Given the description of an element on the screen output the (x, y) to click on. 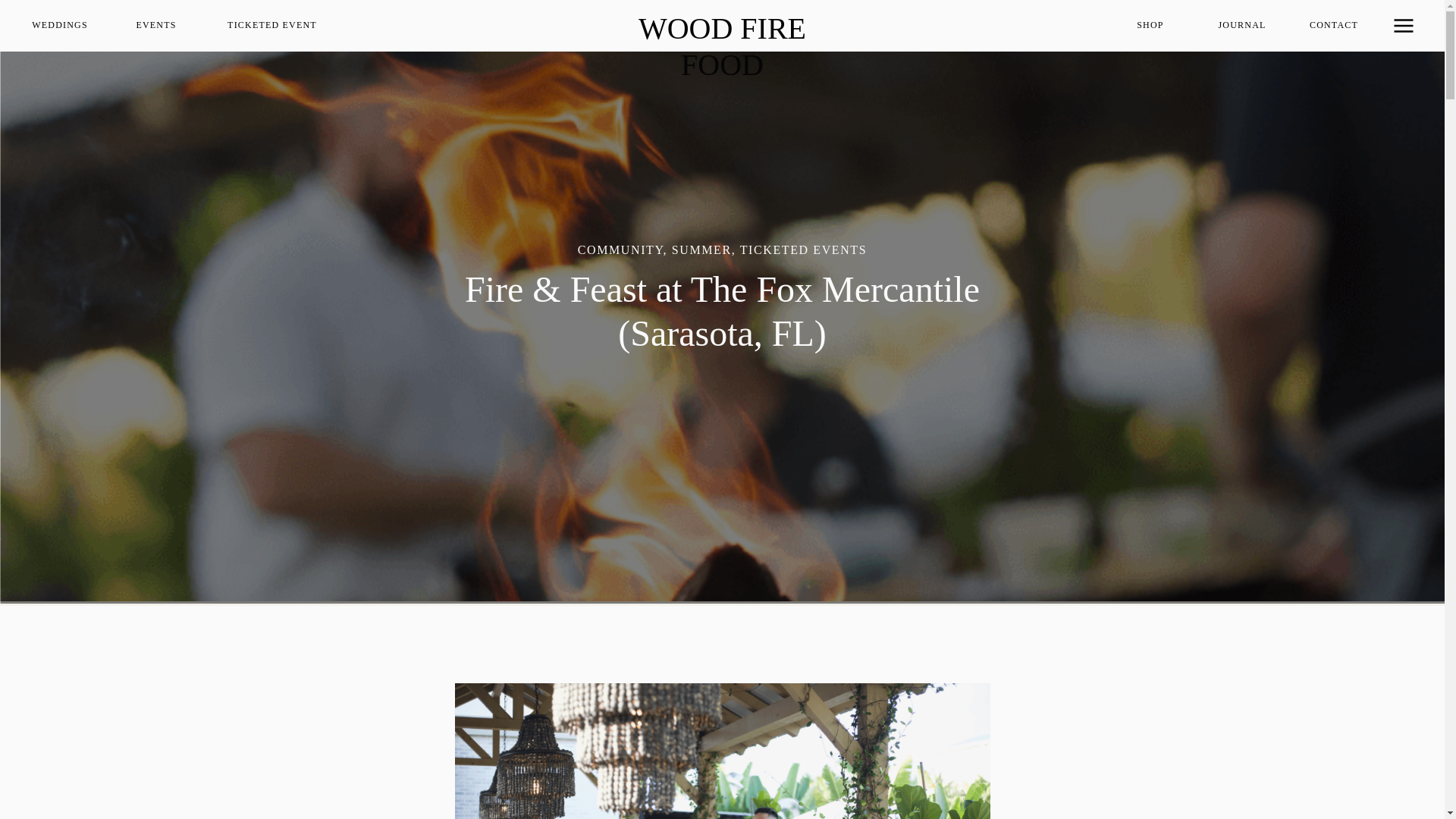
EVENTS (156, 25)
JOURNAL (1241, 25)
CONTACT (1333, 25)
SHOP (1149, 25)
TICKETED EVENT (271, 25)
WEDDINGS (59, 25)
WOOD FIRE FOOD (722, 25)
